Given the description of an element on the screen output the (x, y) to click on. 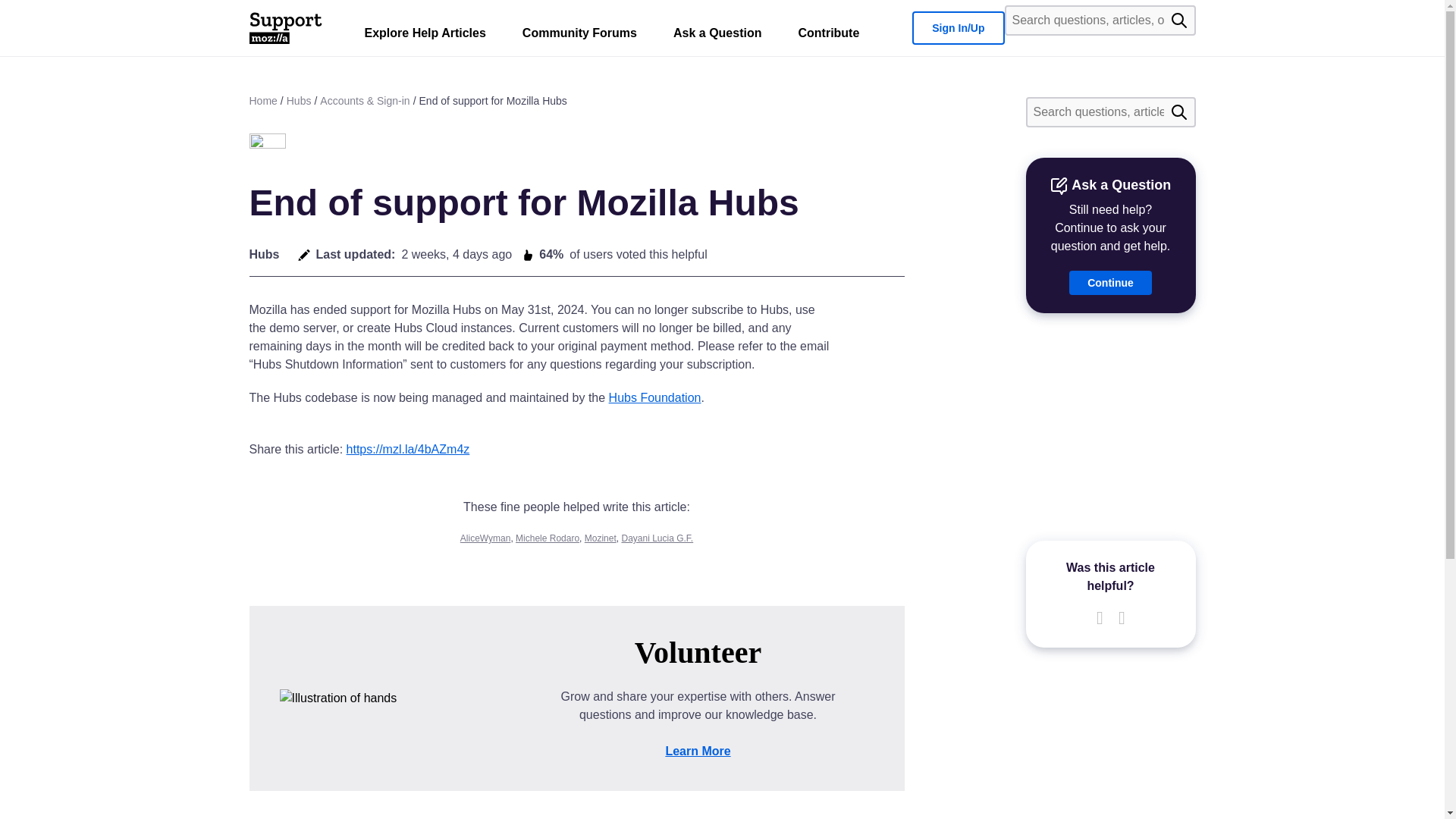
Hubs (266, 151)
Explore Help Articles (424, 37)
Community Forums (579, 37)
Search (1178, 111)
Search (1178, 20)
Ask a Question (716, 37)
